Given the description of an element on the screen output the (x, y) to click on. 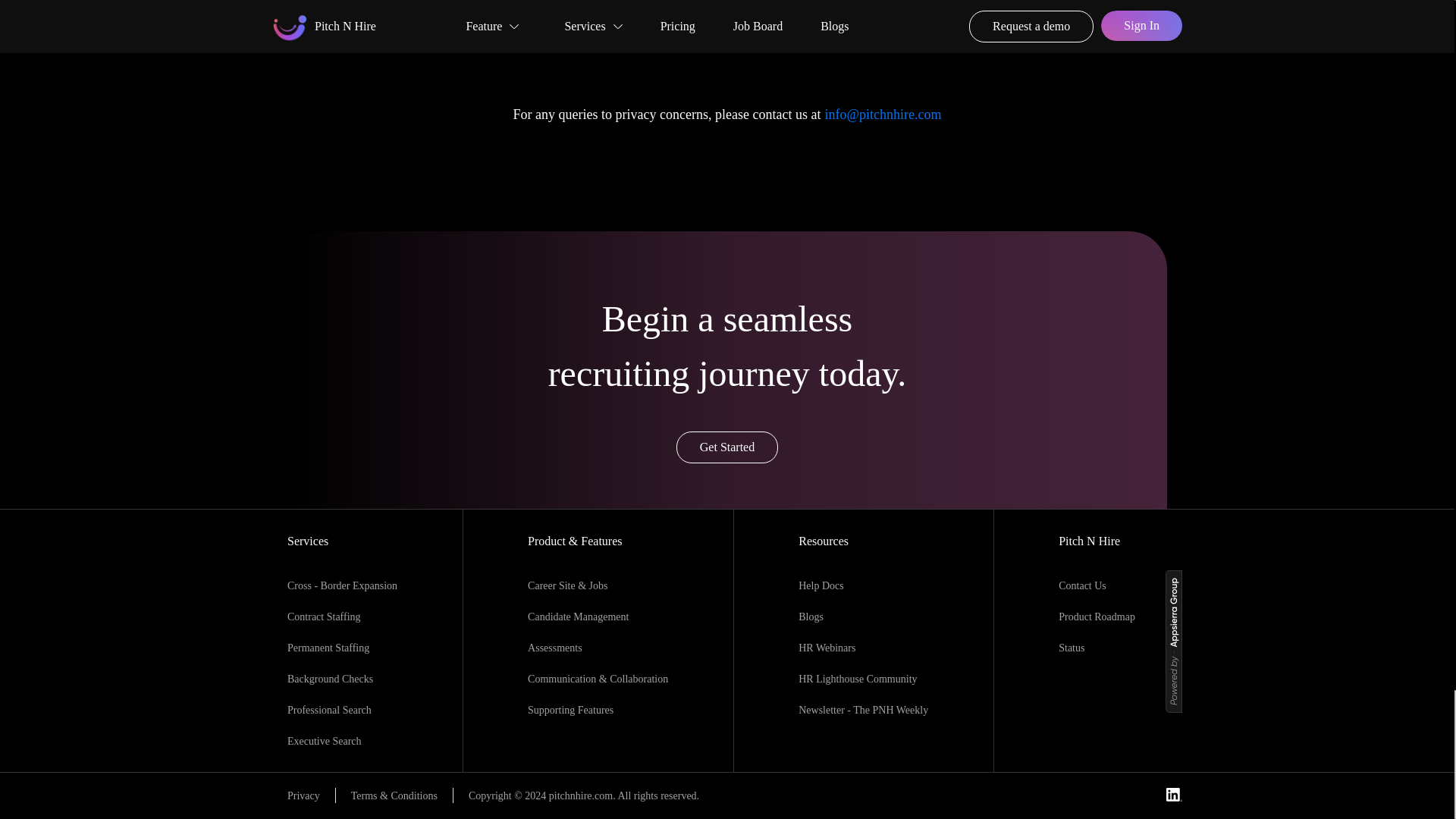
Cross - Border Expansion (341, 585)
Get Started (727, 447)
Permanent Staffing (327, 647)
Assessments (597, 647)
Professional Search (328, 709)
Background Checks (329, 678)
Executive Search (323, 740)
Candidate Management (597, 616)
Contract Staffing (323, 616)
